Given the description of an element on the screen output the (x, y) to click on. 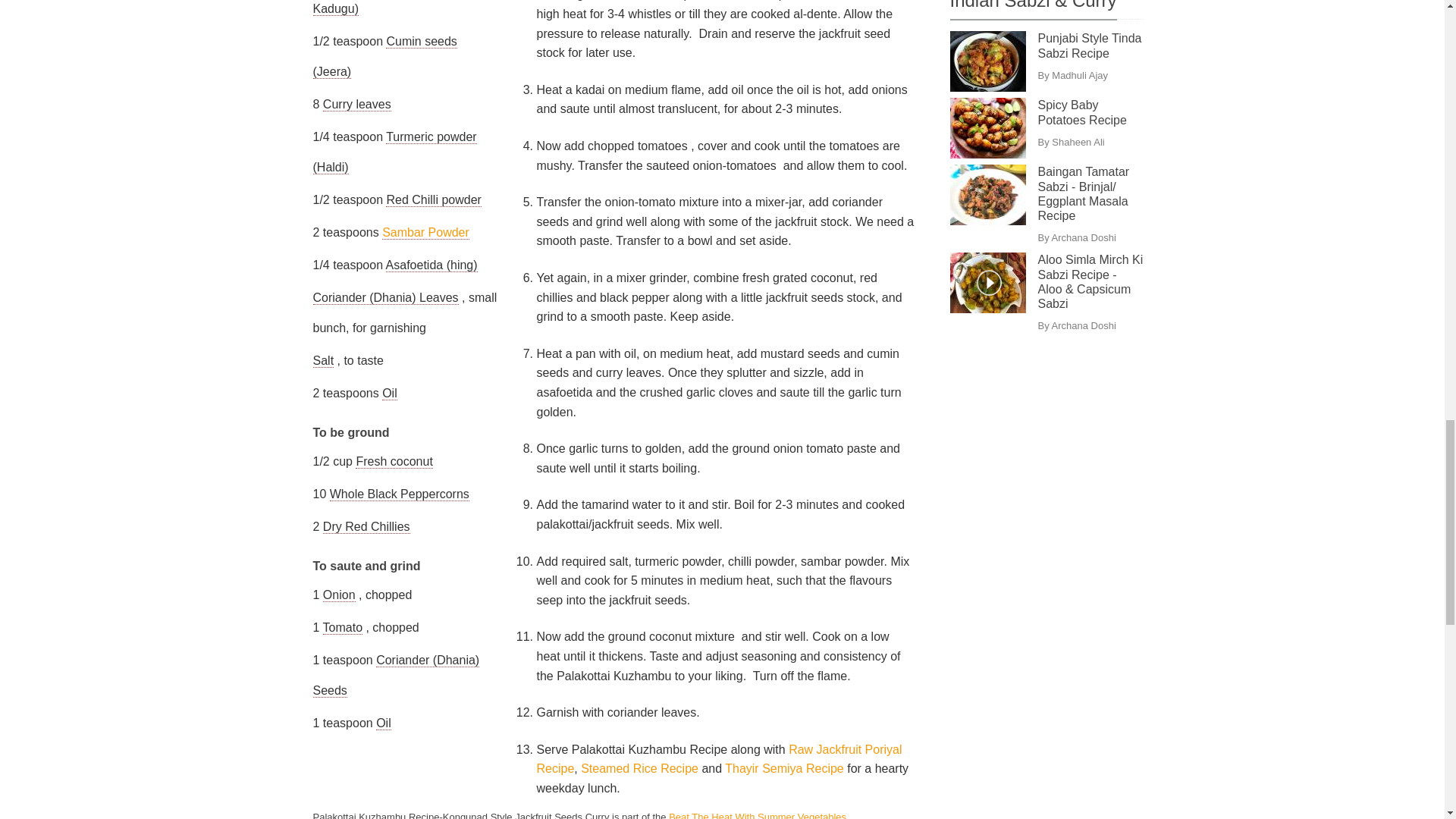
Raw Jackfruit Poriyal Recipe (718, 758)
Beat The Heat With Summer Vegetables (756, 815)
Thayir Semiya Recipe (786, 768)
Steamed Rice Recipe (640, 768)
Sambar Powder (424, 232)
